Given the description of an element on the screen output the (x, y) to click on. 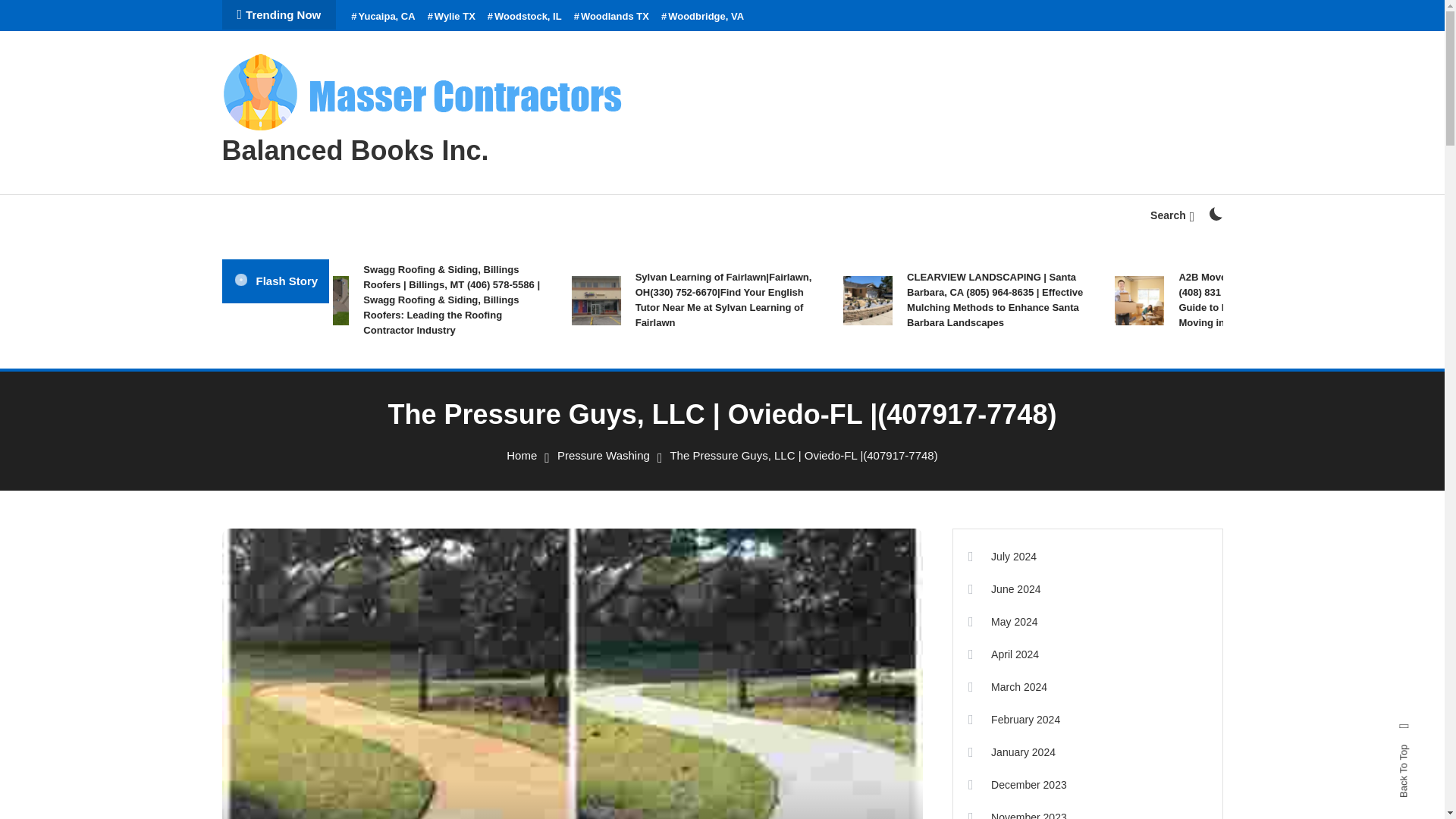
Woodlands TX (611, 16)
Home (521, 454)
Pressure Washing (603, 454)
Woodbridge, VA (702, 16)
Search (768, 434)
Yucaipa, CA (382, 16)
Woodstock, IL (524, 16)
Balanced Books Inc. (354, 150)
on (1215, 213)
Search (1171, 215)
Wylie TX (452, 16)
